Given the description of an element on the screen output the (x, y) to click on. 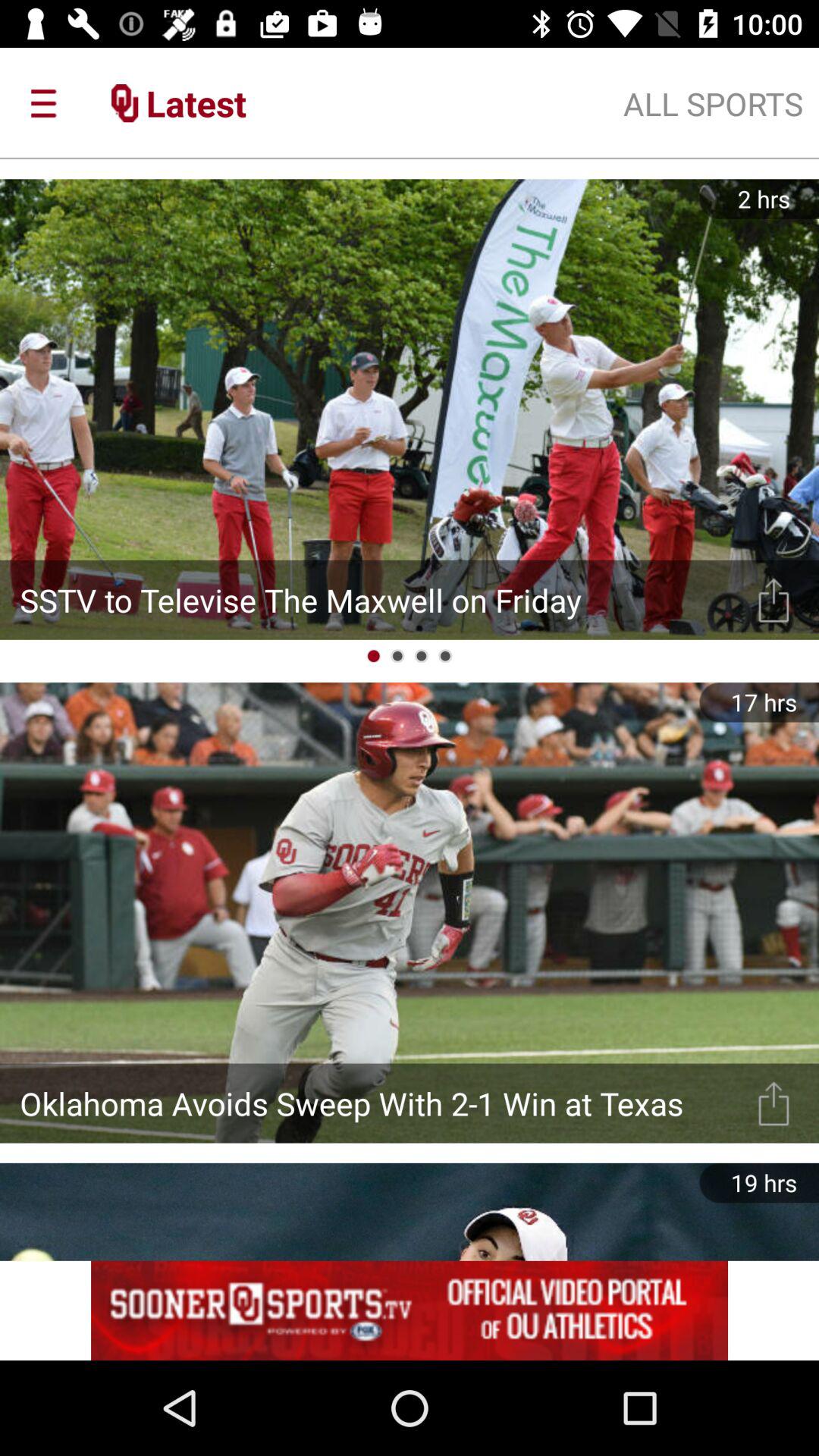
add banner (409, 1310)
